Given the description of an element on the screen output the (x, y) to click on. 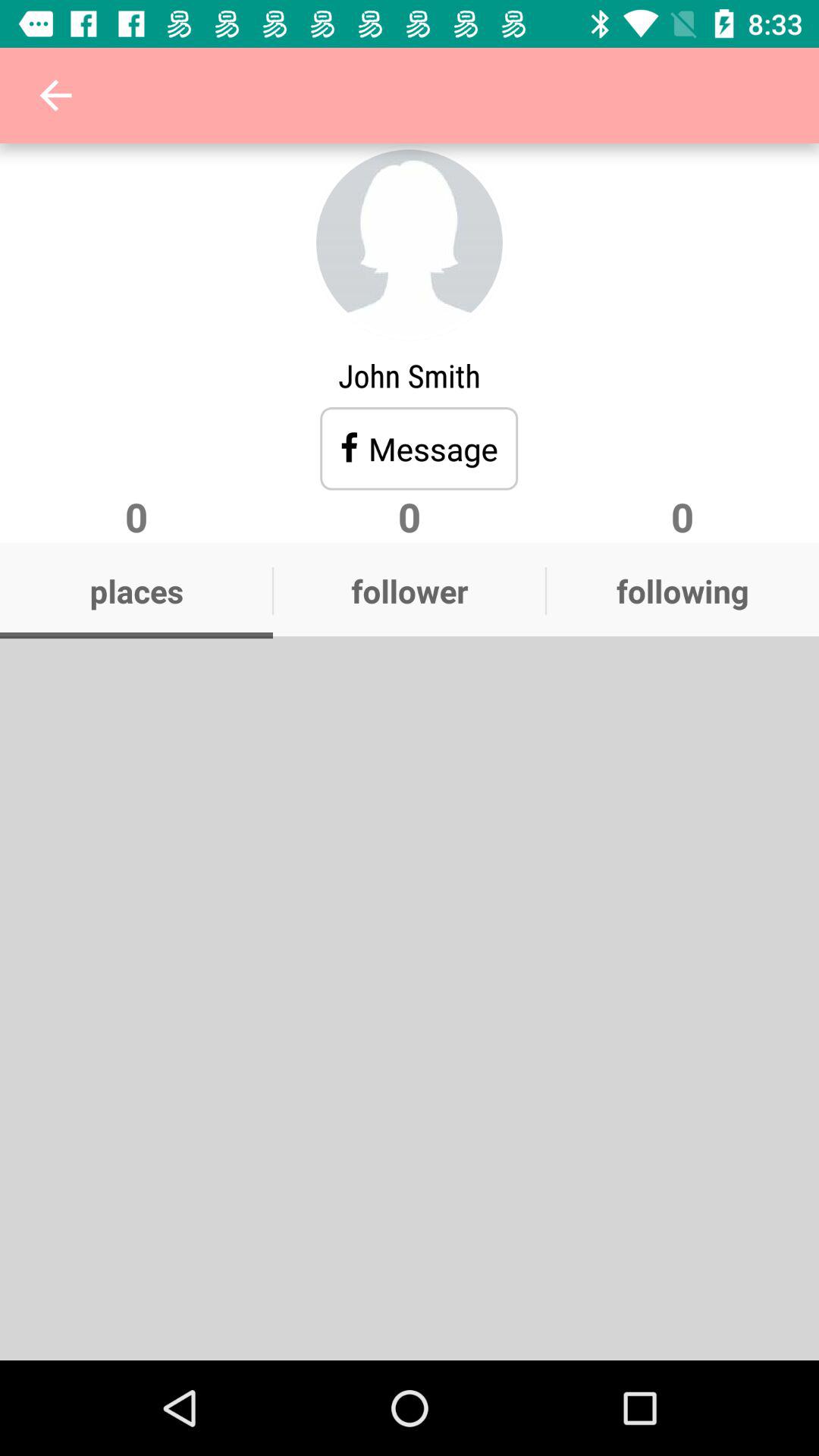
tap item next to the following (409, 590)
